Given the description of an element on the screen output the (x, y) to click on. 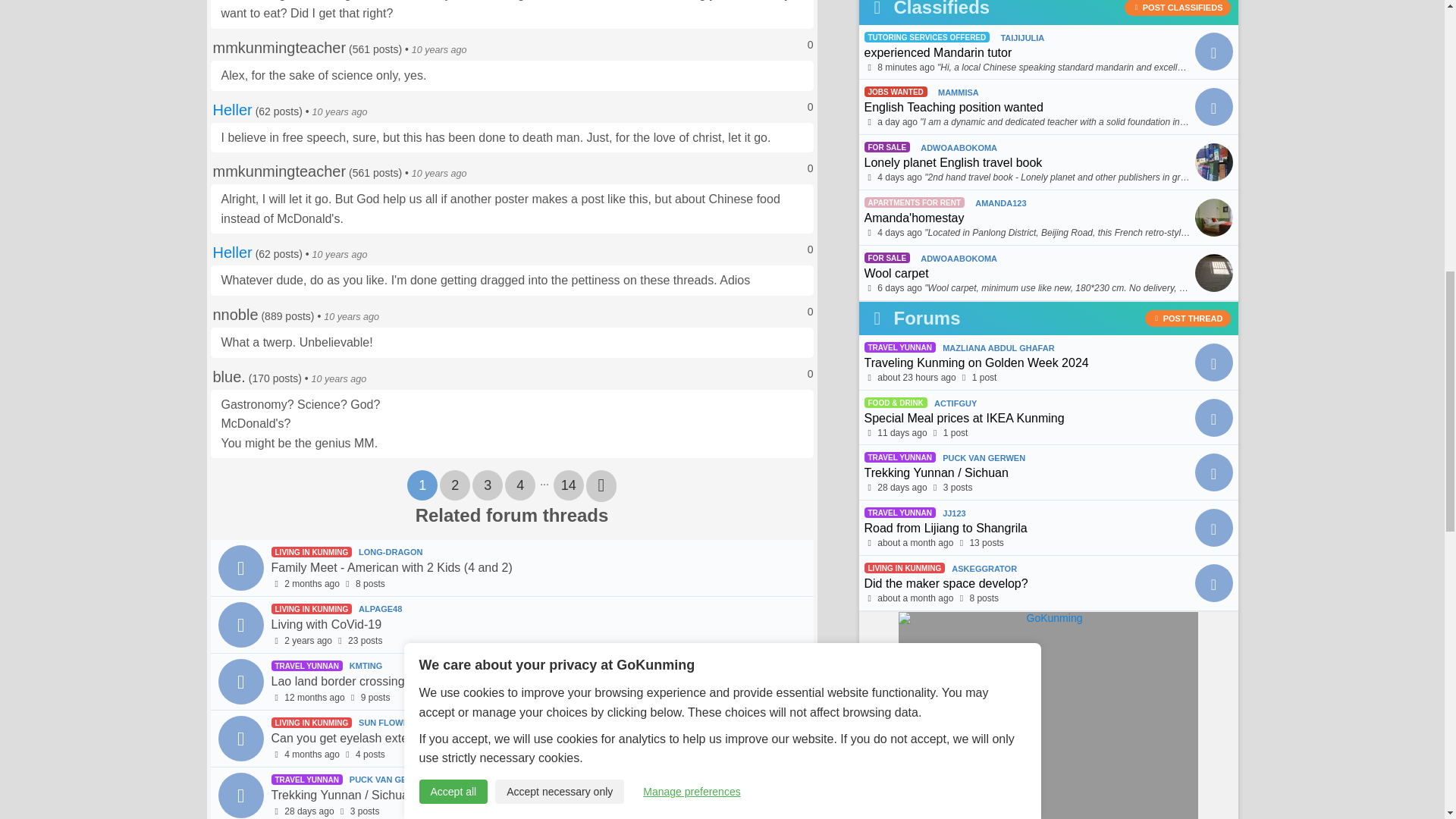
June 16, 2014, 4:03pm (338, 378)
June 16, 2014, 3:56pm (340, 112)
August 9, 2023 (313, 697)
January 9, 2023 (307, 640)
June 16, 2014, 3:55pm (439, 50)
June 16, 2014, 4:03pm (350, 317)
June 21, 2024 (308, 810)
July 19, 2024 (905, 67)
July 18, 2024 (897, 122)
June 16, 2014, 4:00pm (340, 254)
March 29, 2024 (311, 754)
May 22, 2024 (311, 583)
June 16, 2014, 3:57pm (439, 173)
